Given the description of an element on the screen output the (x, y) to click on. 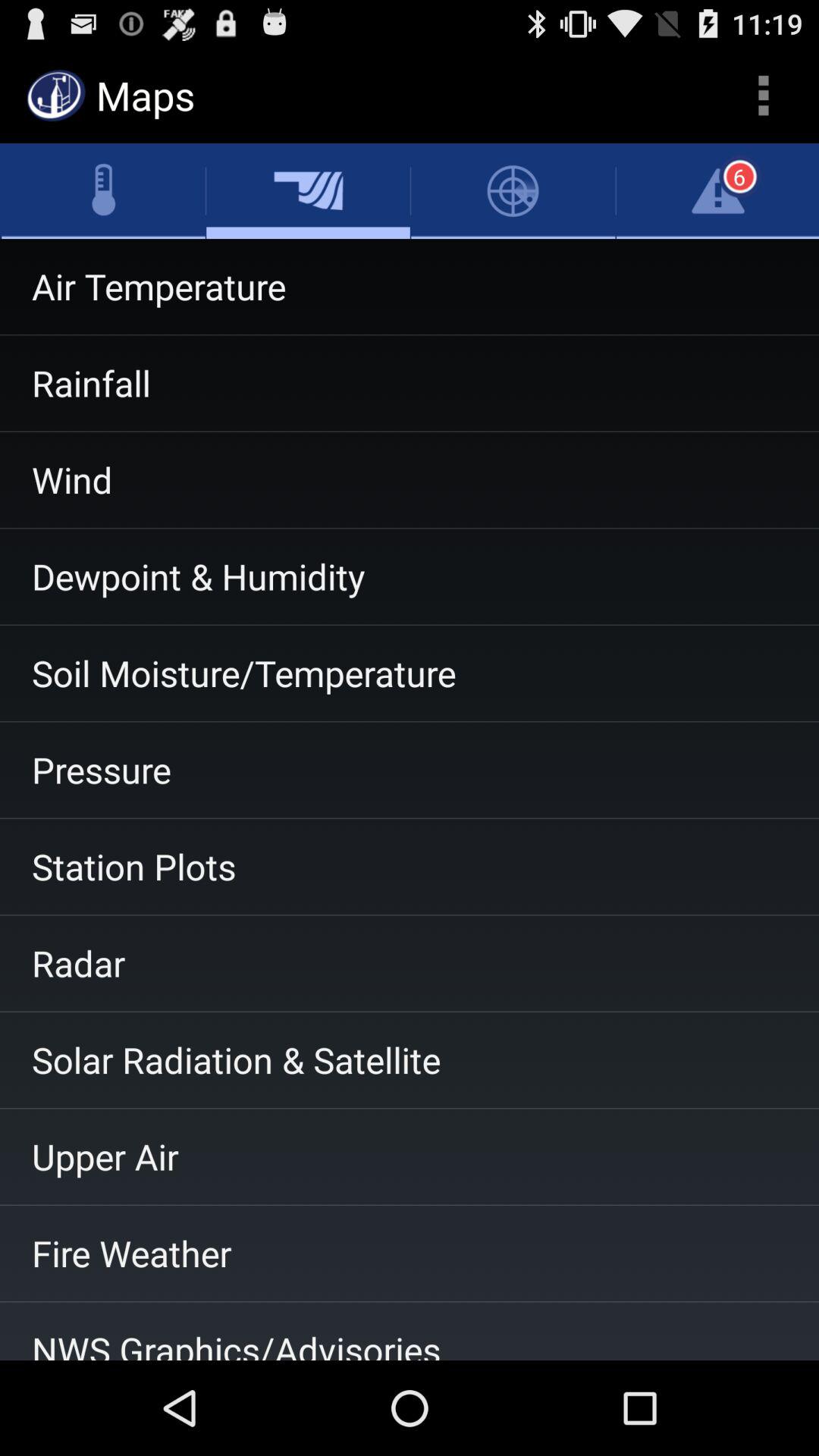
choose nws graphics/advisories (409, 1331)
